Given the description of an element on the screen output the (x, y) to click on. 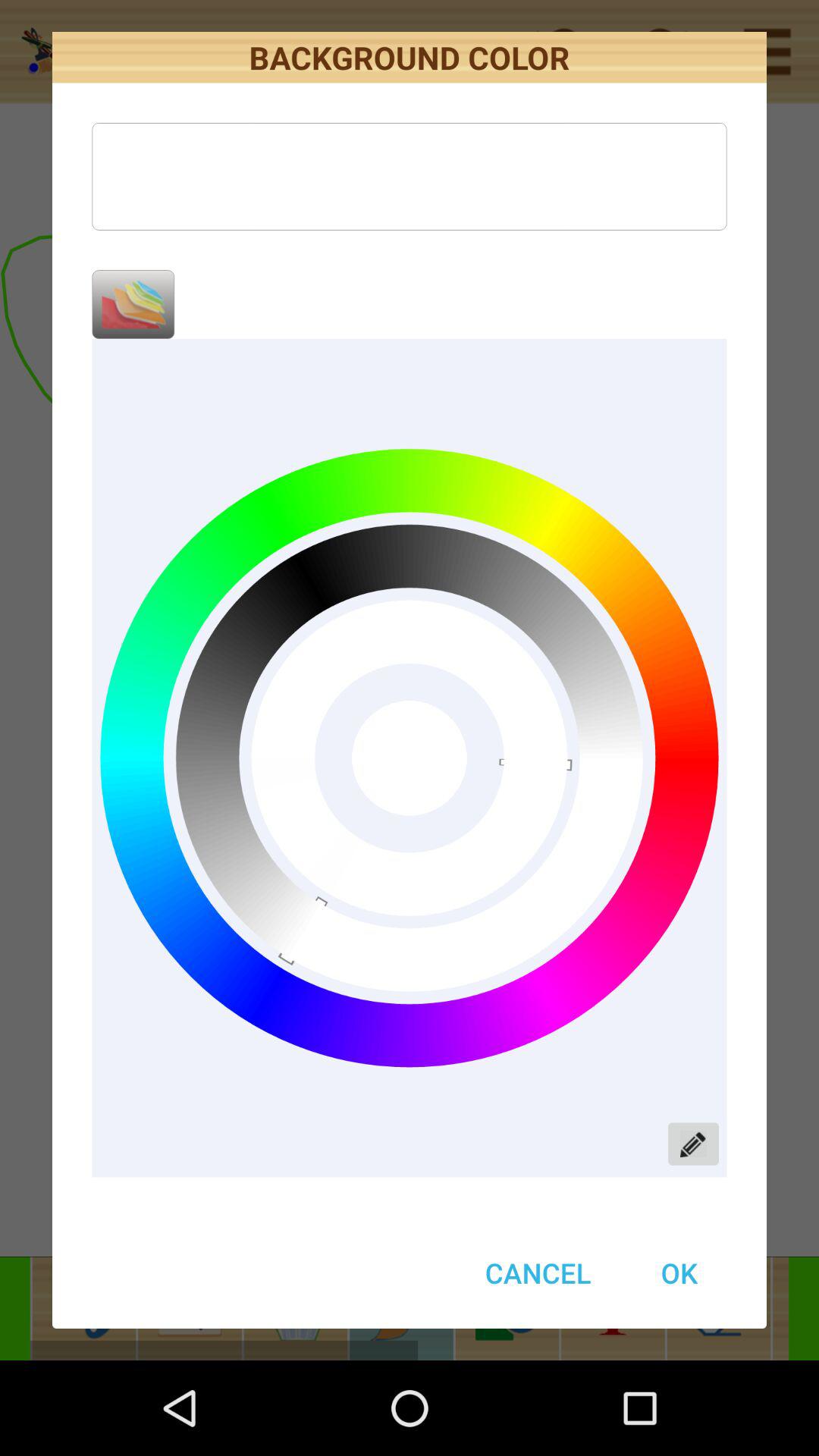
turn on icon at the top left corner (133, 304)
